Given the description of an element on the screen output the (x, y) to click on. 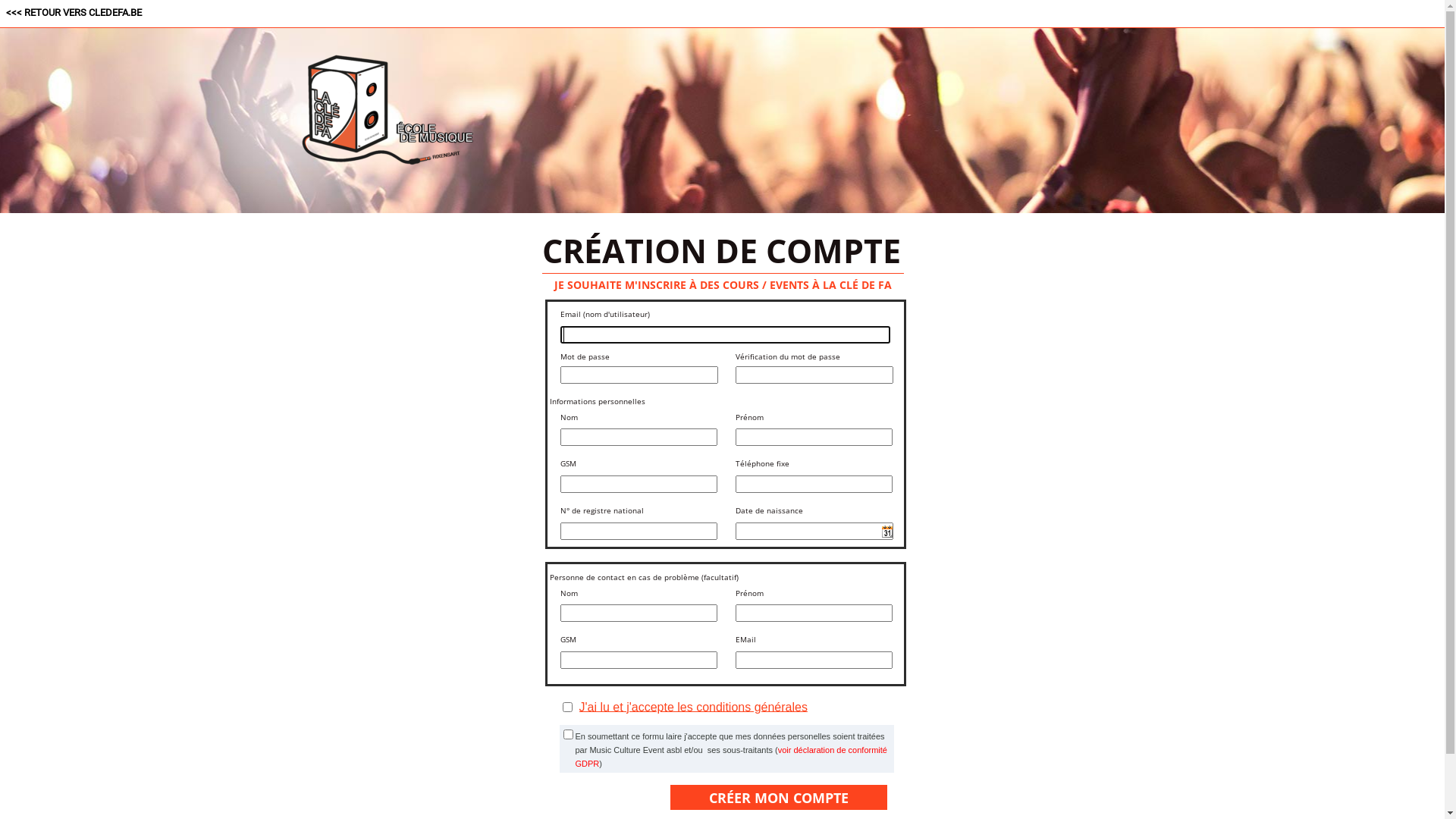
<<< RETOUR VERS CLEDEFA.BE Element type: text (73, 12)
